Given the description of an element on the screen output the (x, y) to click on. 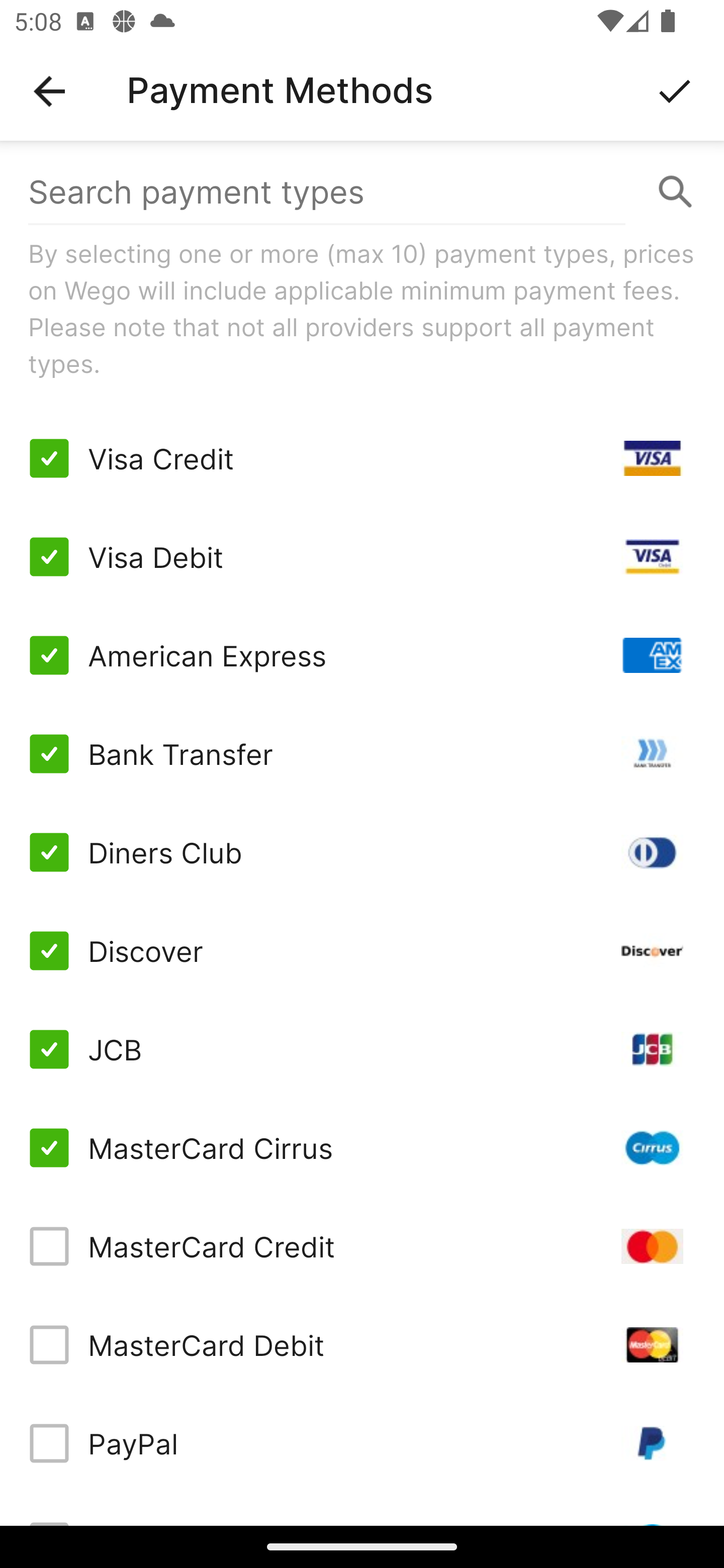
Search payment types  (361, 191)
Visa Credit (362, 458)
Visa Debit (362, 557)
American Express (362, 655)
Bank Transfer (362, 753)
Diners Club (362, 851)
Discover (362, 950)
JCB (362, 1049)
MasterCard Cirrus (362, 1147)
MasterCard Credit (362, 1245)
MasterCard Debit (362, 1344)
PayPal (362, 1442)
